Given the description of an element on the screen output the (x, y) to click on. 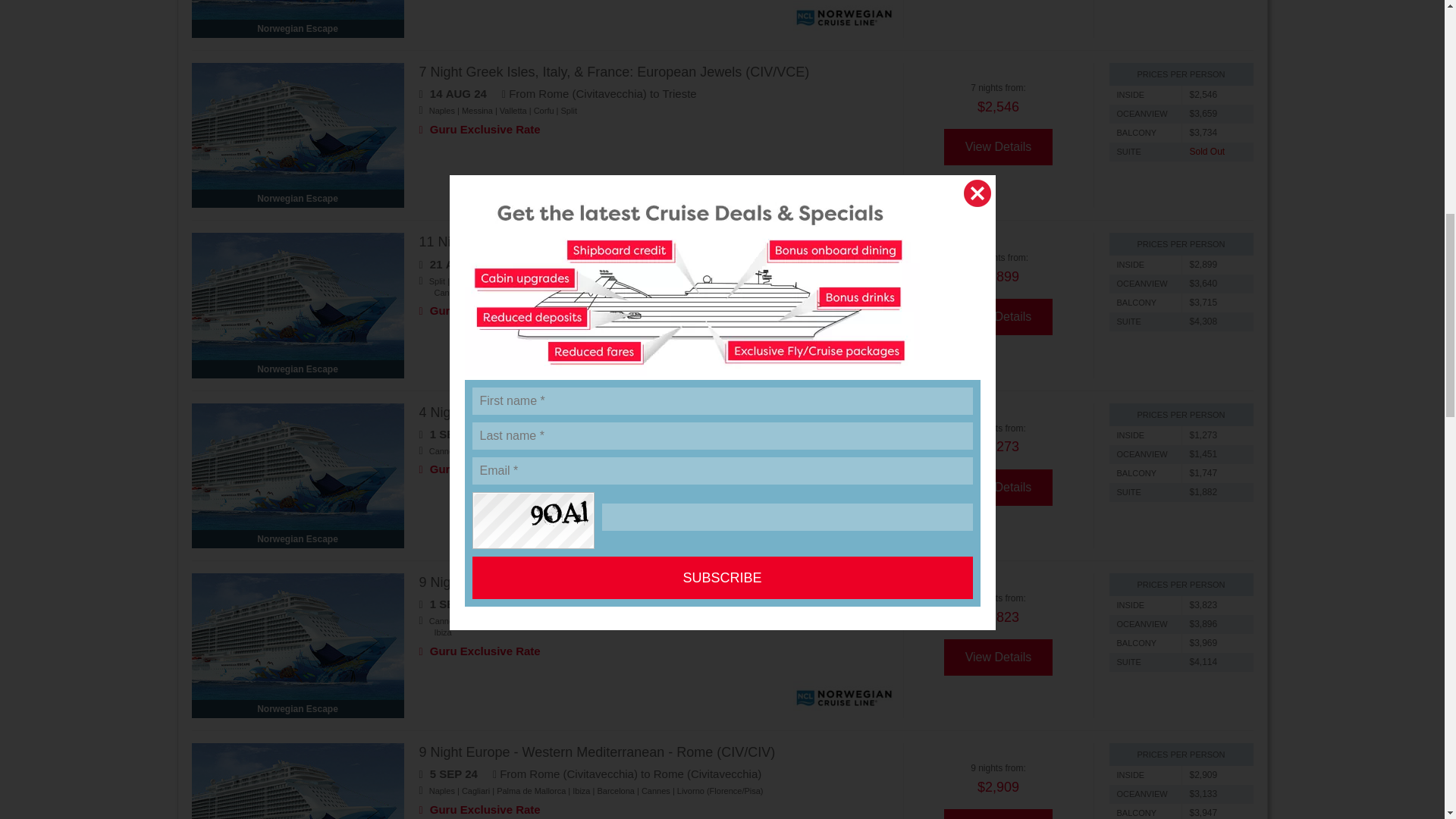
Norwegian Cruise Line (844, 356)
Norwegian Cruise Line (844, 186)
Norwegian Cruise Line (844, 17)
Norwegian Cruise Line (844, 527)
Norwegian Cruise Line (844, 697)
